Given the description of an element on the screen output the (x, y) to click on. 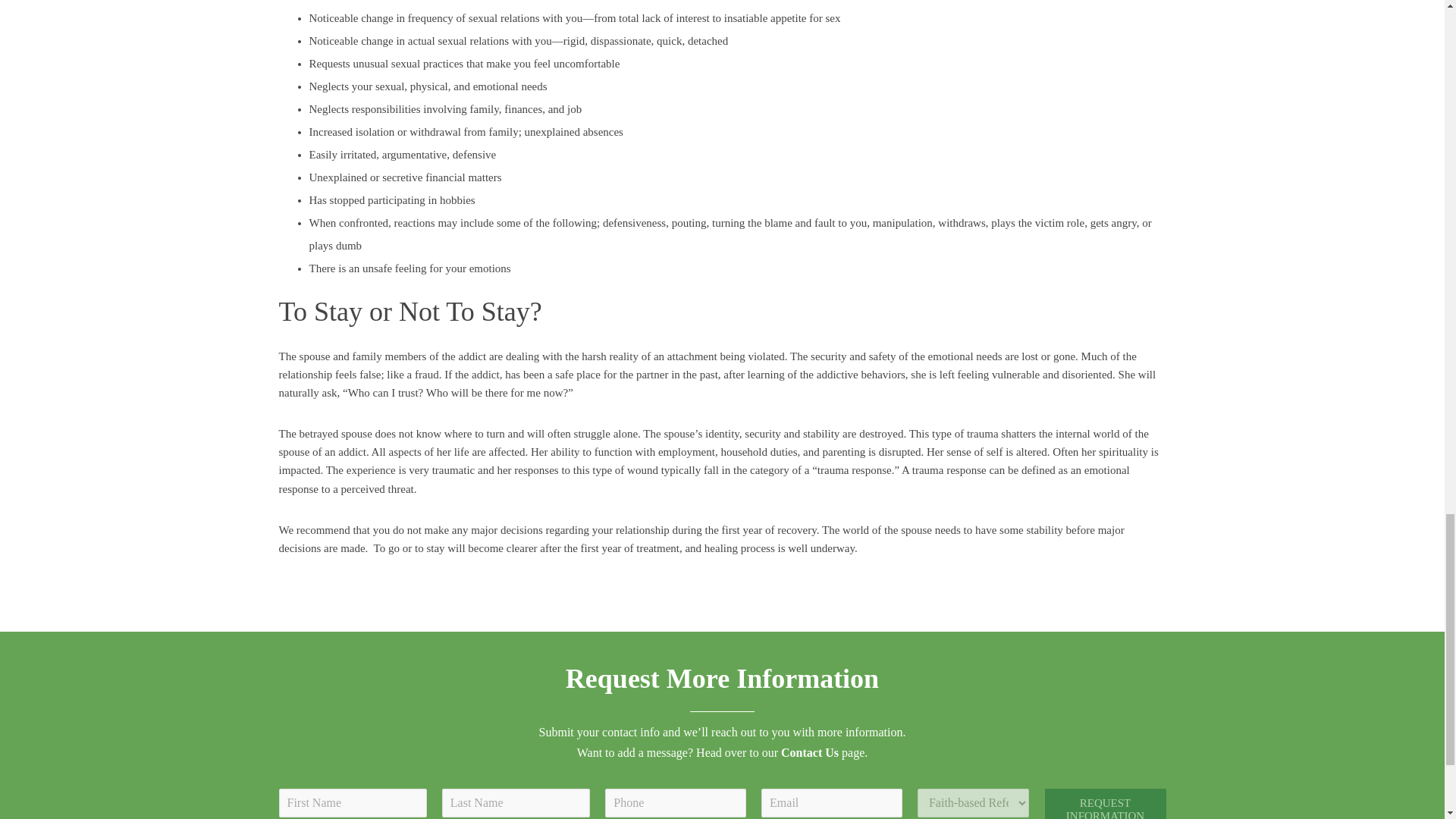
Contact Us (809, 752)
REQUEST INFORMATION (1105, 803)
